Given the description of an element on the screen output the (x, y) to click on. 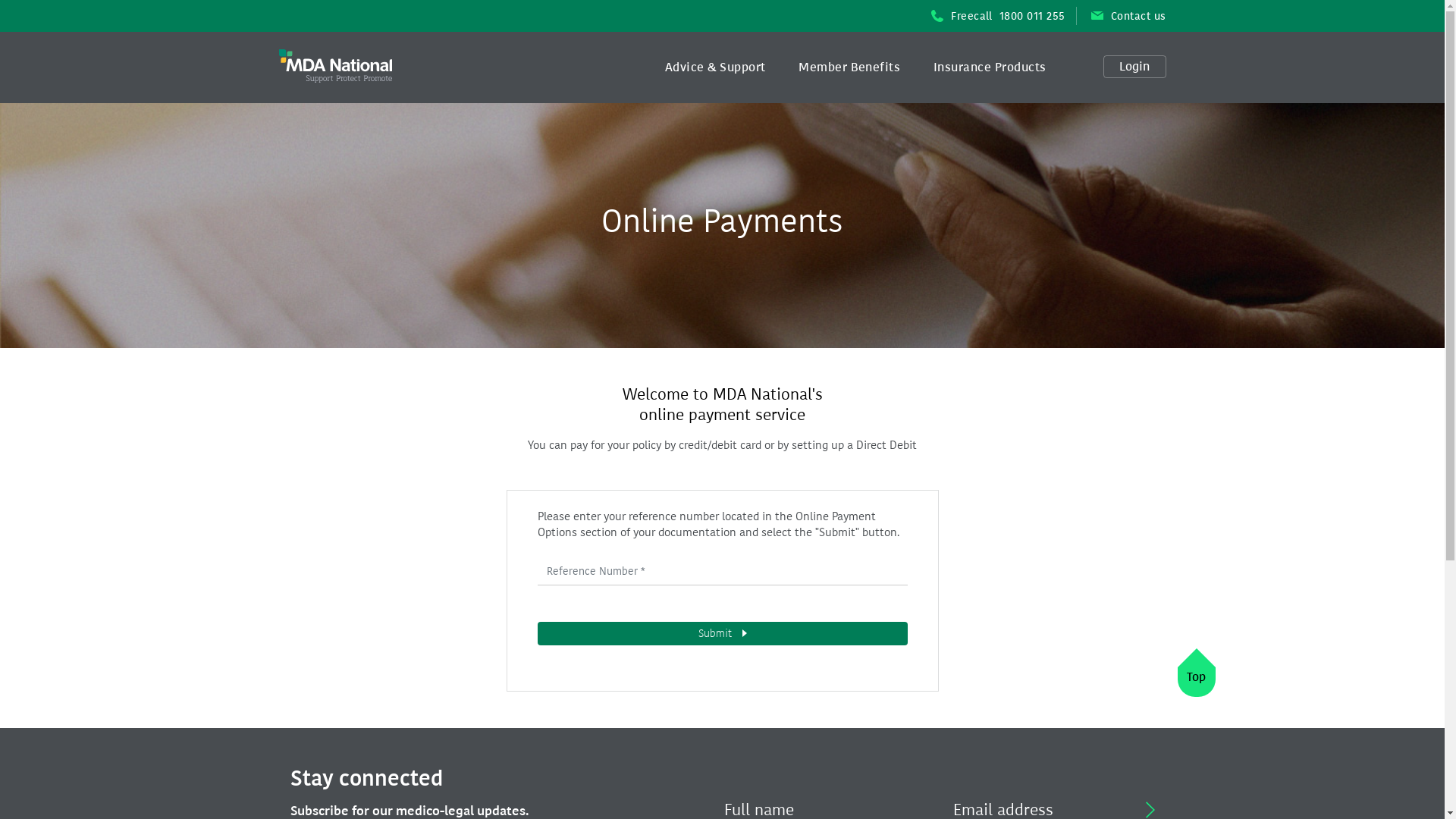
Member Benefits Element type: text (849, 67)
Freecall
  1800 011 255 Element type: text (990, 15)
Contact us Element type: text (1121, 15)
Login Element type: text (1133, 67)
Submit Element type: text (721, 633)
Advice & Support Element type: text (715, 67)
Top Element type: text (1195, 681)
Insurance Products Element type: text (989, 67)
Login Element type: text (1133, 66)
